Given the description of an element on the screen output the (x, y) to click on. 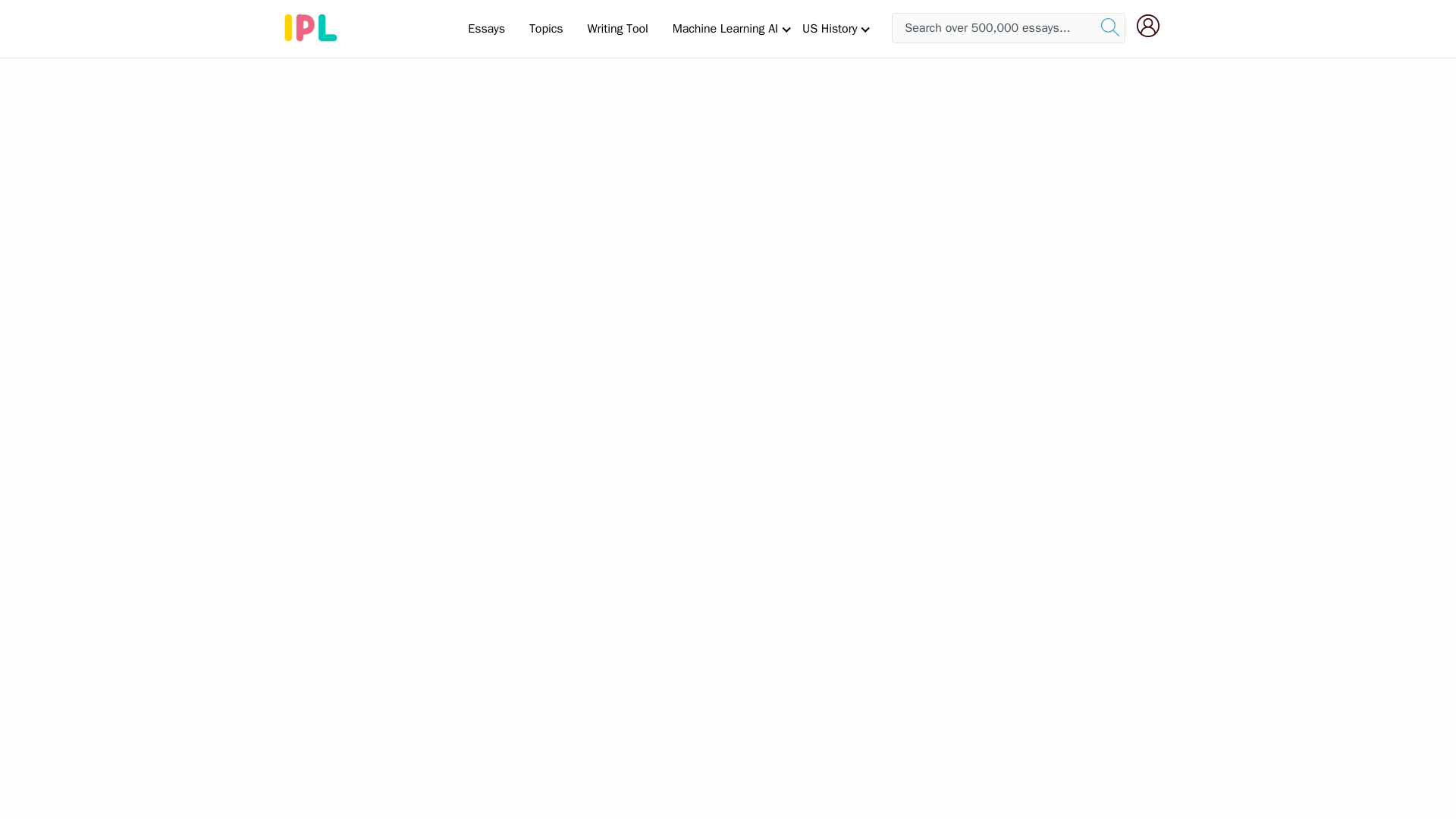
Machine Learning AI (725, 28)
Topics (545, 28)
Writing Tool (617, 28)
US History (829, 28)
Essays (485, 28)
